Given the description of an element on the screen output the (x, y) to click on. 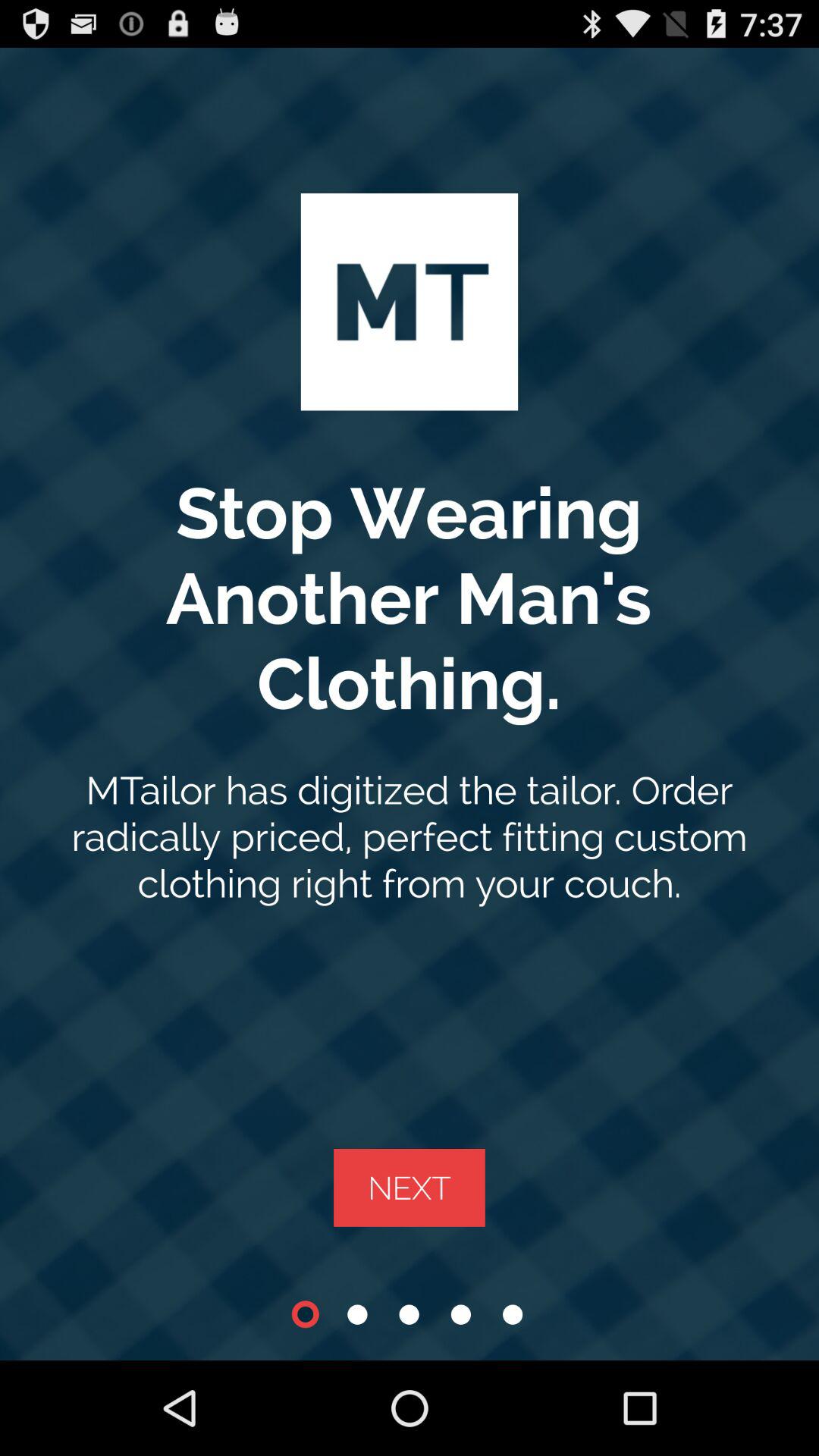
turn off the next icon (409, 1187)
